Given the description of an element on the screen output the (x, y) to click on. 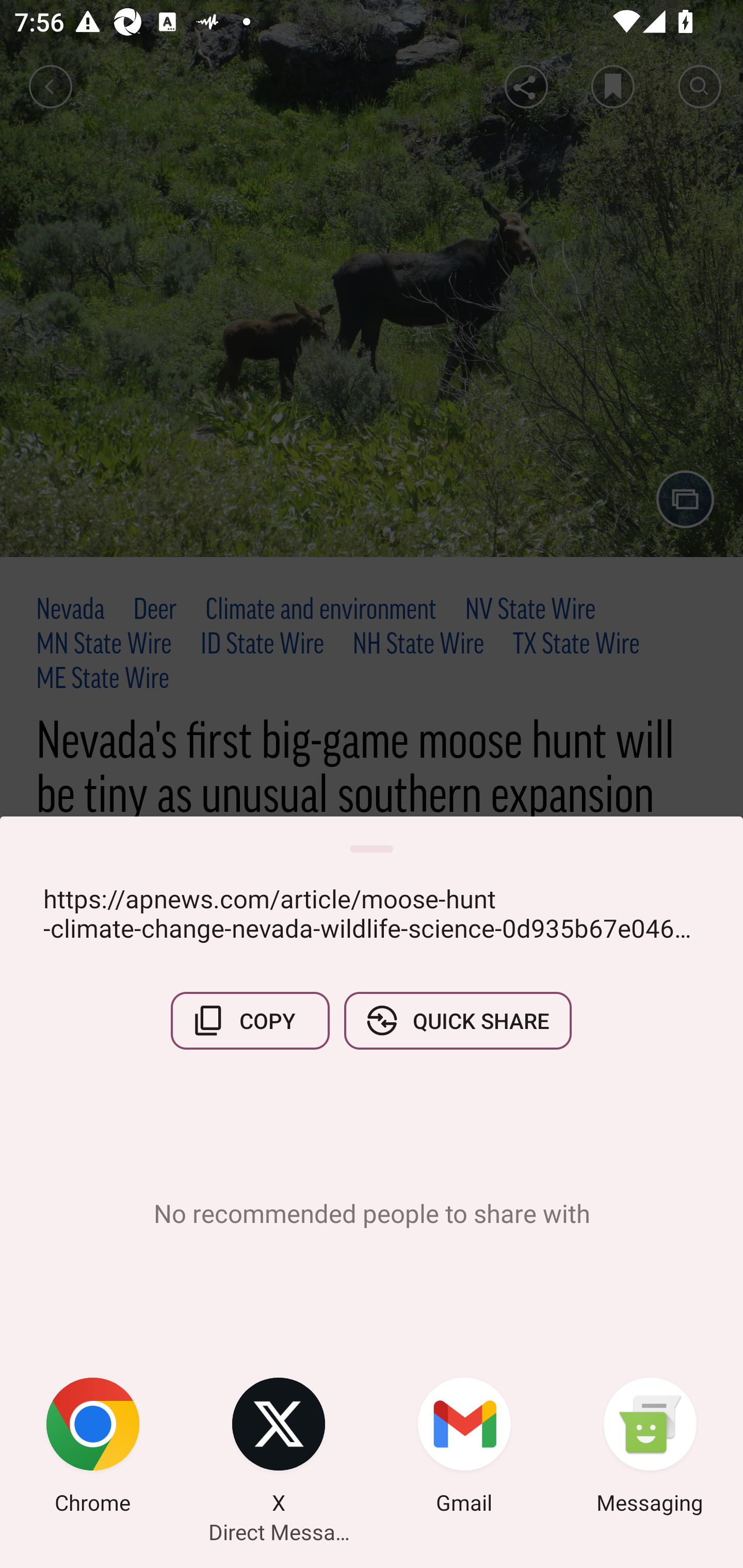
COPY (249, 1020)
QUICK SHARE (457, 1020)
Chrome (92, 1448)
X Direct Message (278, 1448)
Gmail (464, 1448)
Messaging (650, 1448)
